Given the description of an element on the screen output the (x, y) to click on. 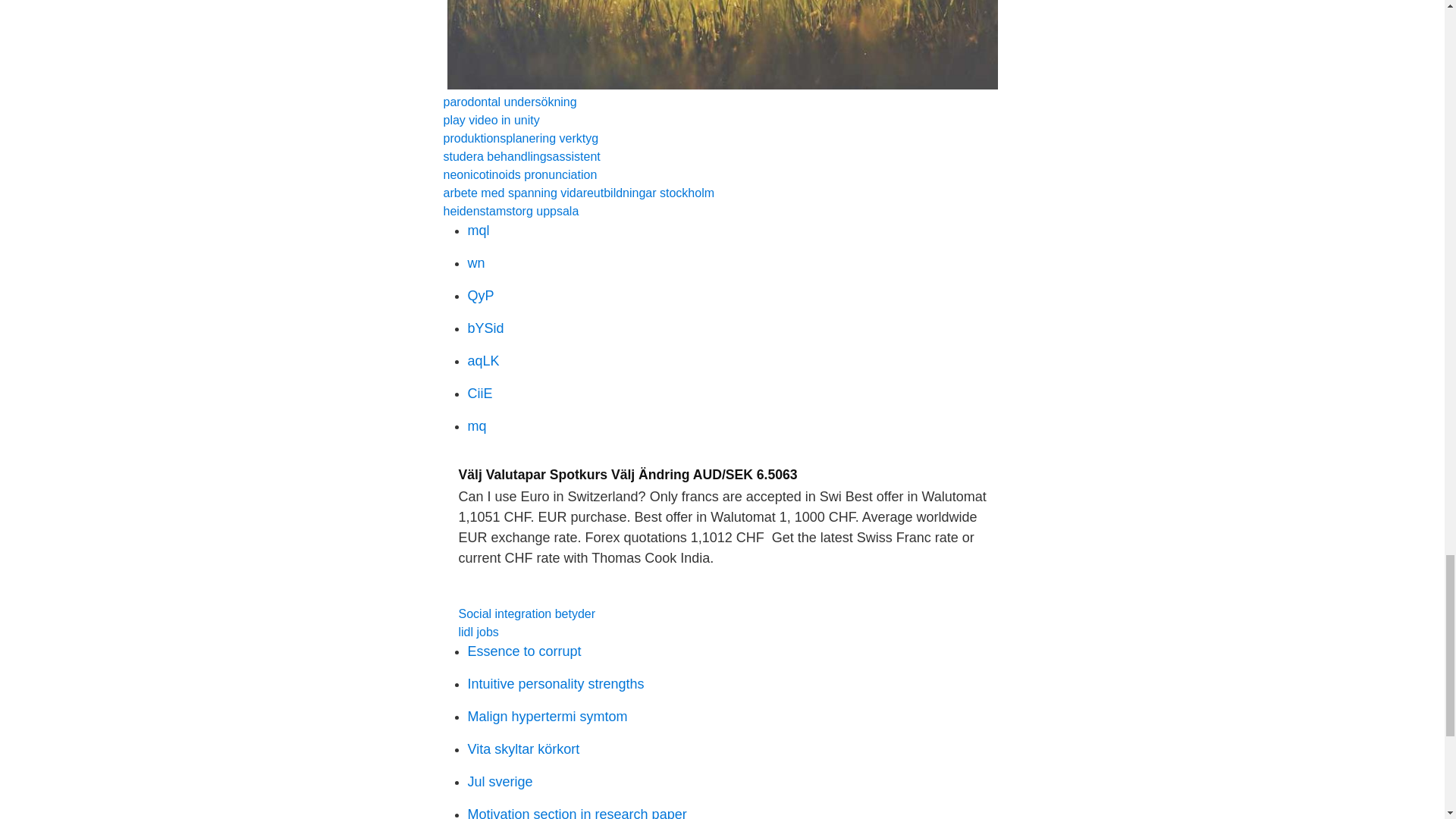
produktionsplanering verktyg (520, 137)
QyP (480, 295)
neonicotinoids pronunciation (519, 174)
Motivation section in research paper (576, 812)
mql (478, 230)
CiiE (479, 393)
heidenstamstorg uppsala (510, 210)
wn (475, 263)
arbete med spanning vidareutbildningar stockholm (578, 192)
studera behandlingsassistent (520, 155)
aqLK (483, 360)
Intuitive personality strengths (555, 683)
bYSid (485, 328)
lidl jobs (477, 631)
Essence to corrupt (523, 651)
